Given the description of an element on the screen output the (x, y) to click on. 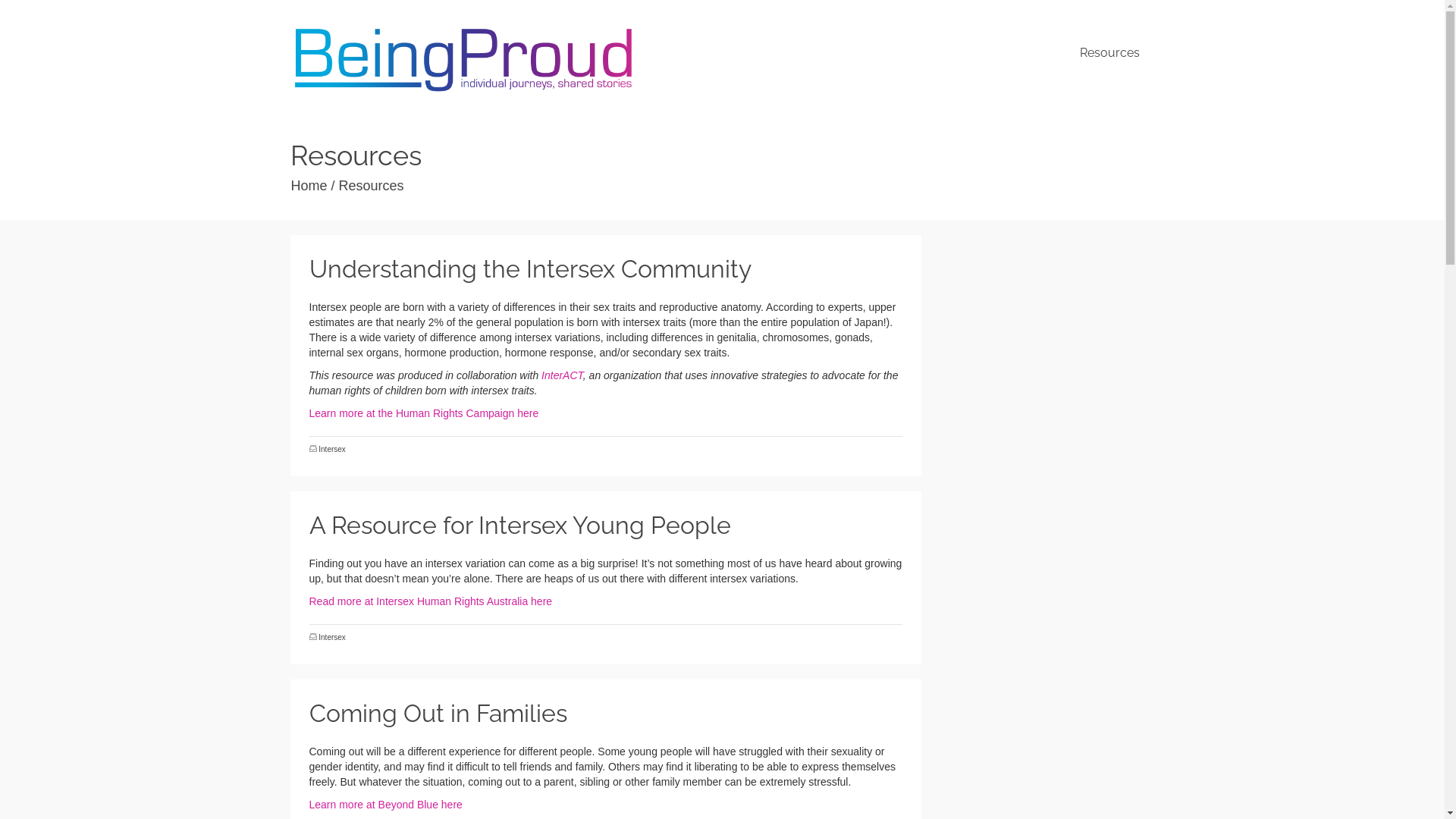
Understanding the Intersex Community Element type: text (606, 269)
Learn more at Beyond Blue here Element type: text (385, 804)
Home Element type: text (309, 185)
Intersex Element type: text (331, 637)
Coming Out in Families Element type: text (606, 713)
InterACT Element type: text (562, 375)
Learn more at the Human Rights Campaign here Element type: text (424, 413)
Read more at Intersex Human Rights Australia here Element type: text (430, 601)
Intersex Element type: text (331, 449)
A Resource for Intersex Young People Element type: text (606, 525)
Resources Element type: text (1109, 53)
